Given the description of an element on the screen output the (x, y) to click on. 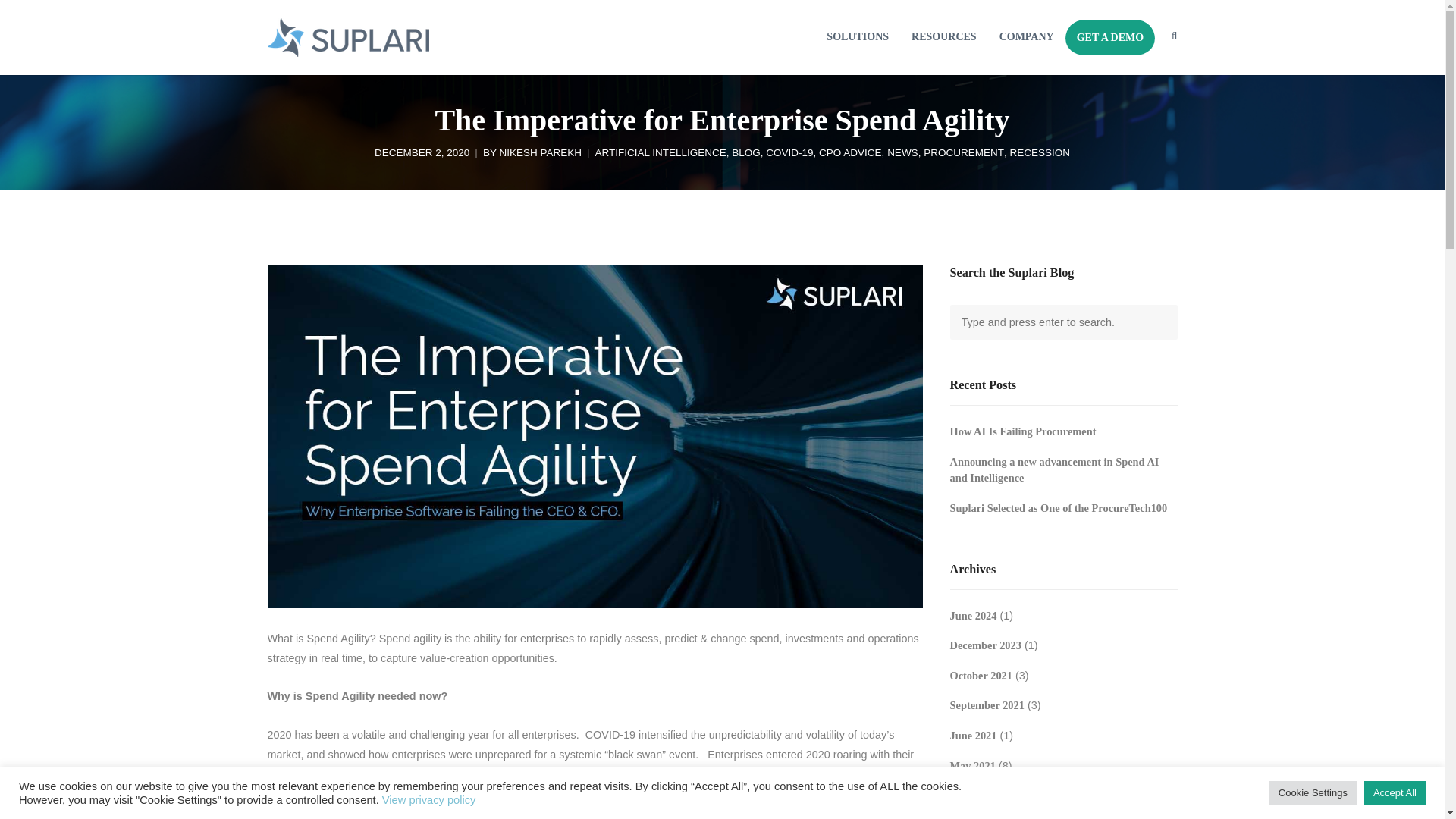
NEWS (902, 152)
COMPANY (1026, 37)
View all posts in Artificial Intelligence (659, 152)
NIKESH PAREKH (539, 152)
COVID-19 (788, 152)
BLOG (746, 152)
RESOURCES (943, 37)
View all posts in Blog (746, 152)
GET A DEMO (1109, 38)
get-started (1109, 38)
SOLUTIONS (857, 37)
View all posts in Procurement (963, 152)
ARTIFICIAL INTELLIGENCE (659, 152)
View all posts in News (902, 152)
